Given the description of an element on the screen output the (x, y) to click on. 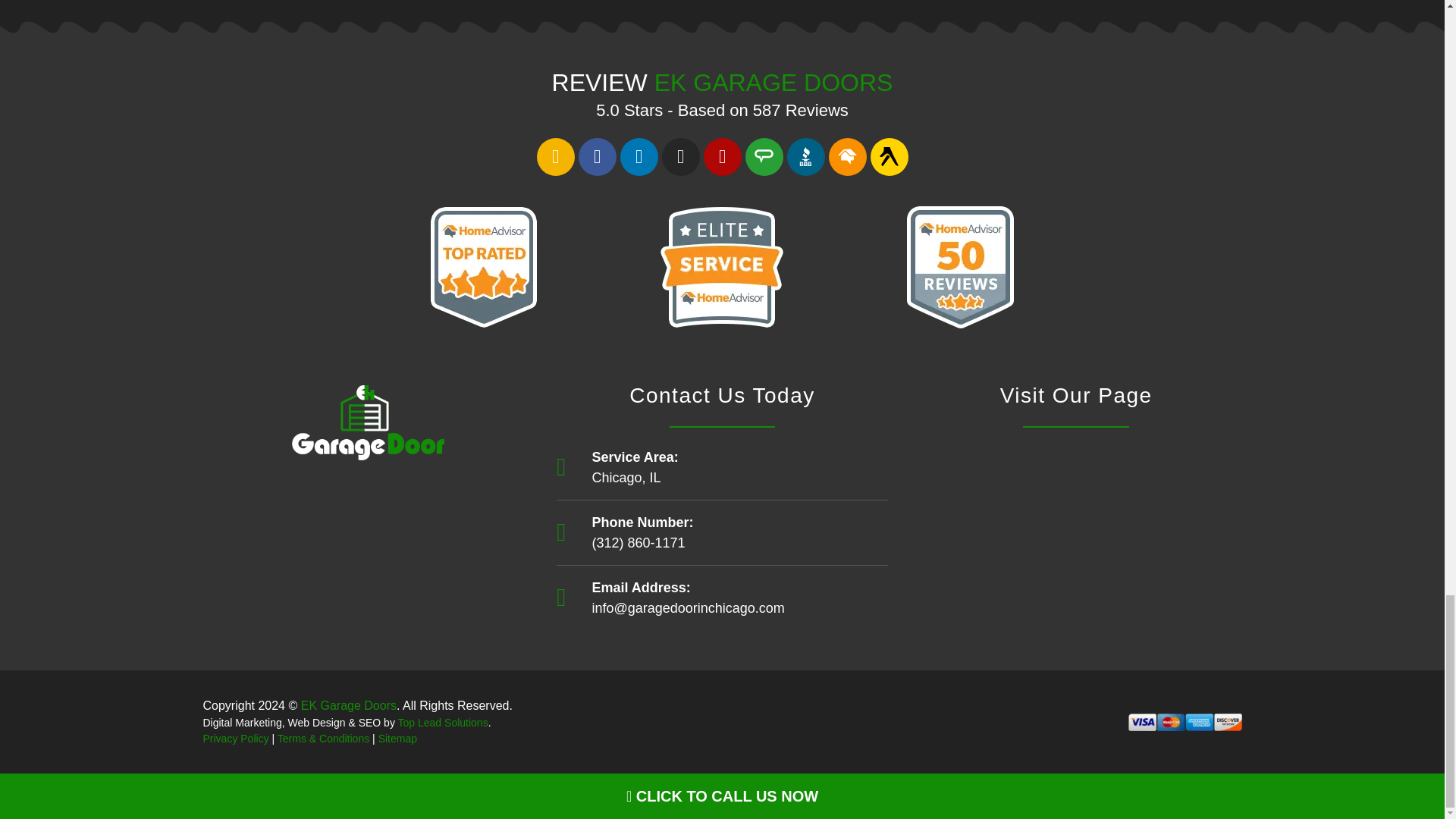
E. K. Garage Door Repair, Tinley Park, IL (368, 547)
